Given the description of an element on the screen output the (x, y) to click on. 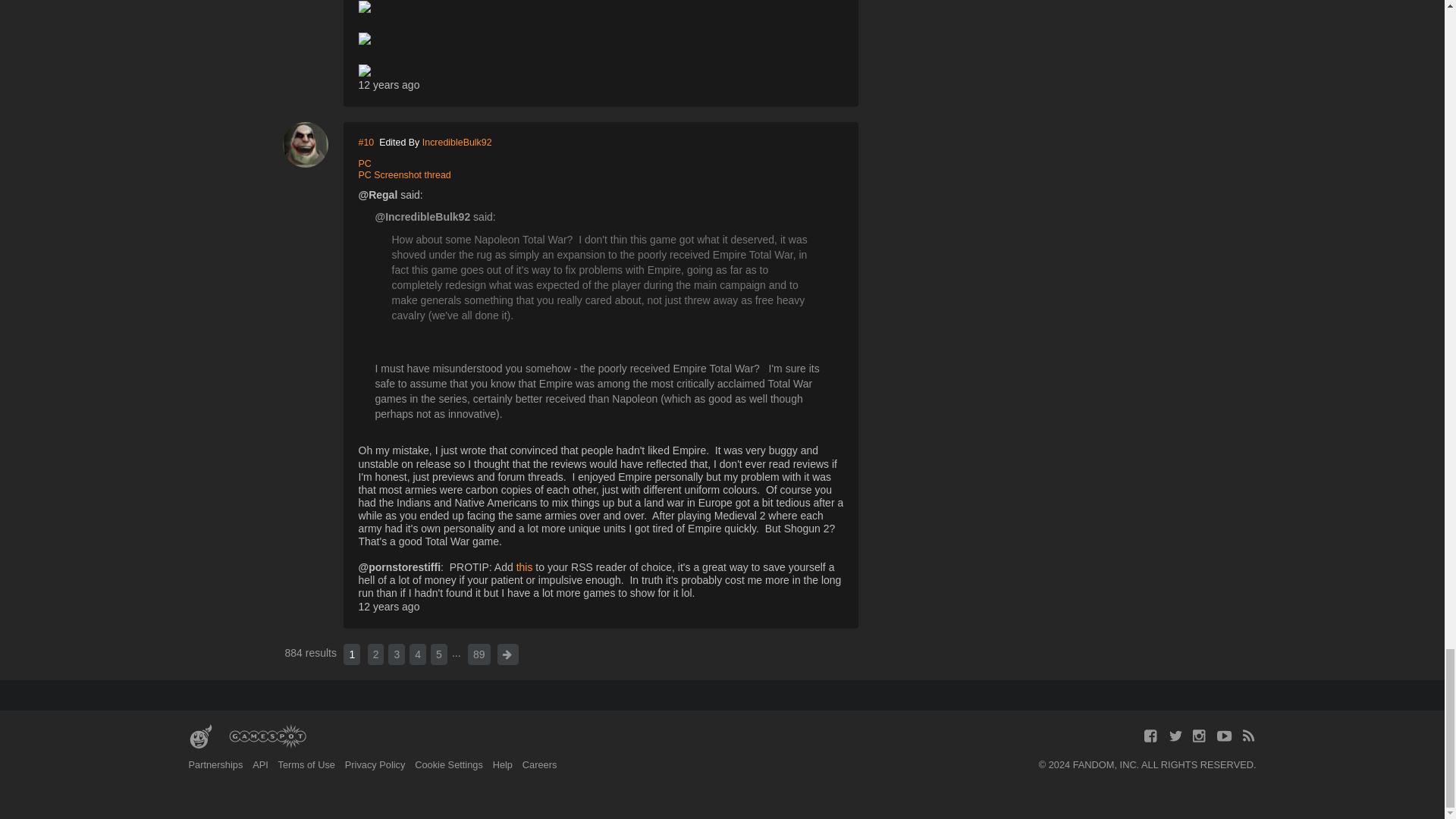
Jul 30, 2011, 6:52am (388, 84)
GameSpot (266, 736)
Giant Bomb (199, 736)
Next page (507, 654)
Jul 30, 2011, 3:10am (388, 606)
